Given the description of an element on the screen output the (x, y) to click on. 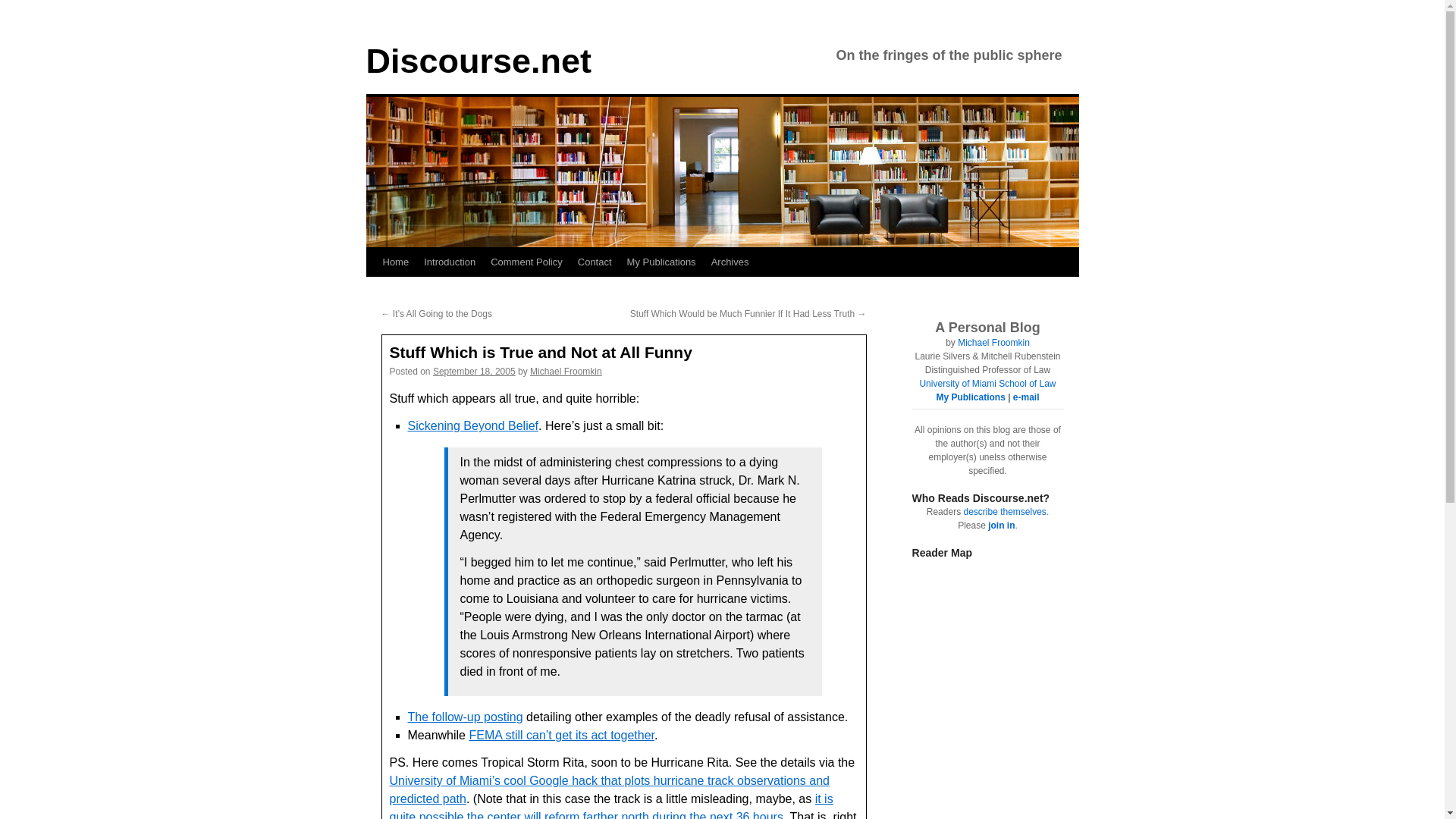
My Publications (661, 262)
instructions on how to deduce my email (1026, 397)
The follow-up posting (464, 716)
Michael Froomkin (565, 371)
Archives (730, 262)
Discourse.net (478, 60)
join in (1001, 525)
Most are available online (970, 397)
University of Miami School of Law (986, 383)
